Given the description of an element on the screen output the (x, y) to click on. 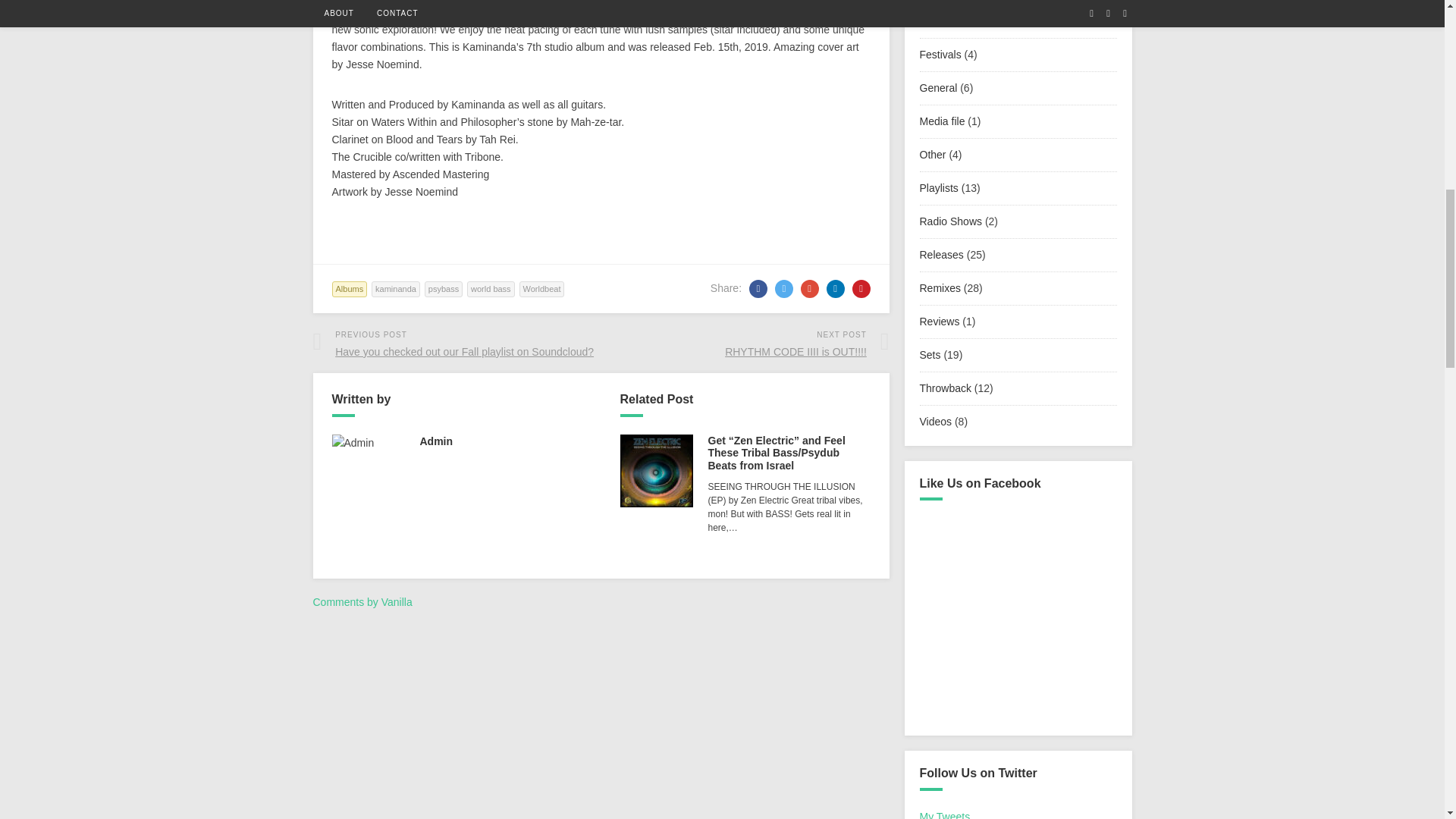
Worldbeat (541, 289)
kaminanda (395, 289)
world bass (491, 289)
Comments by Vanilla (362, 602)
psybass (444, 289)
Admin (436, 440)
Albums (349, 289)
